Given the description of an element on the screen output the (x, y) to click on. 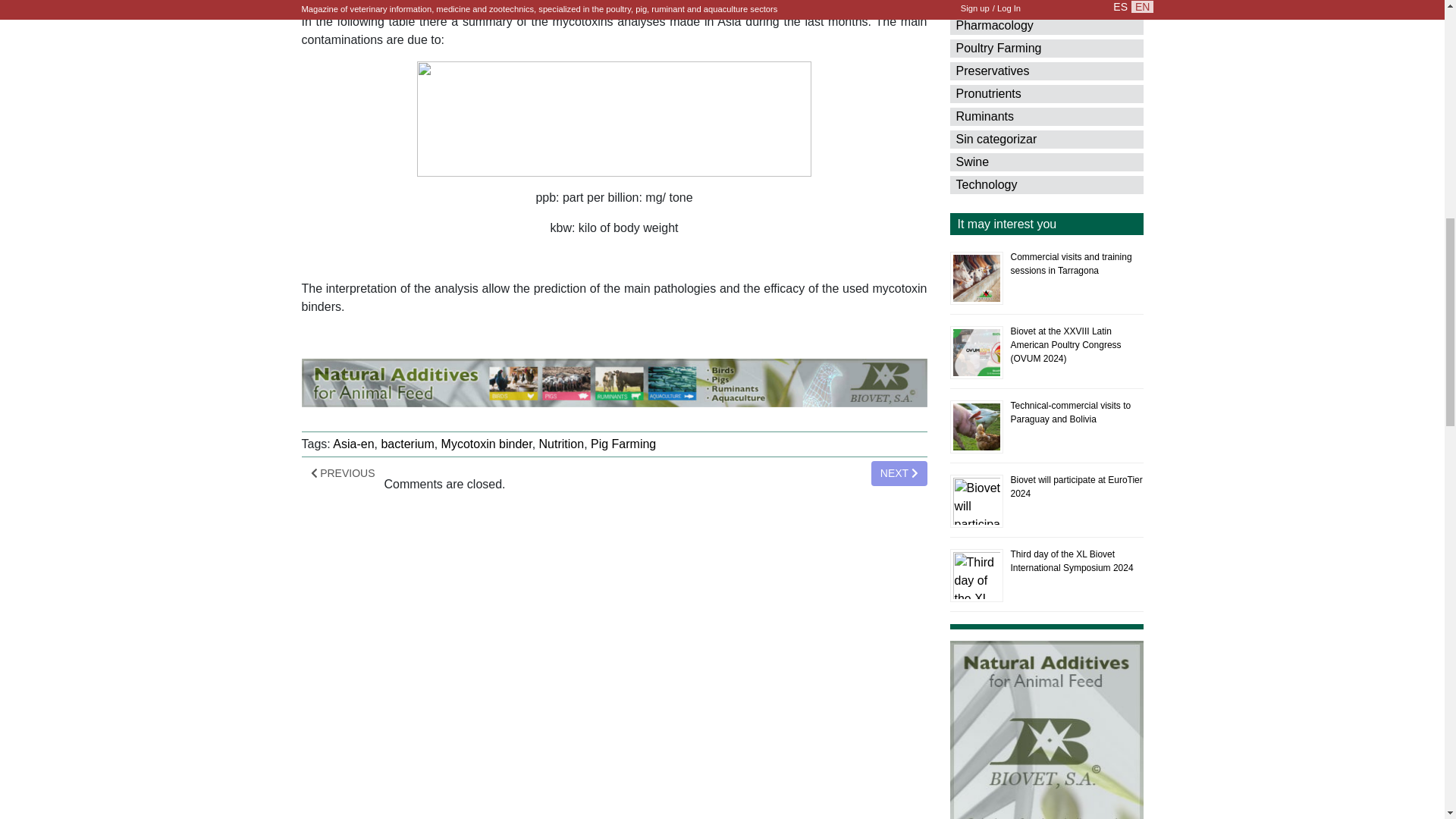
Biovet-banner-V-en (1045, 729)
